Given the description of an element on the screen output the (x, y) to click on. 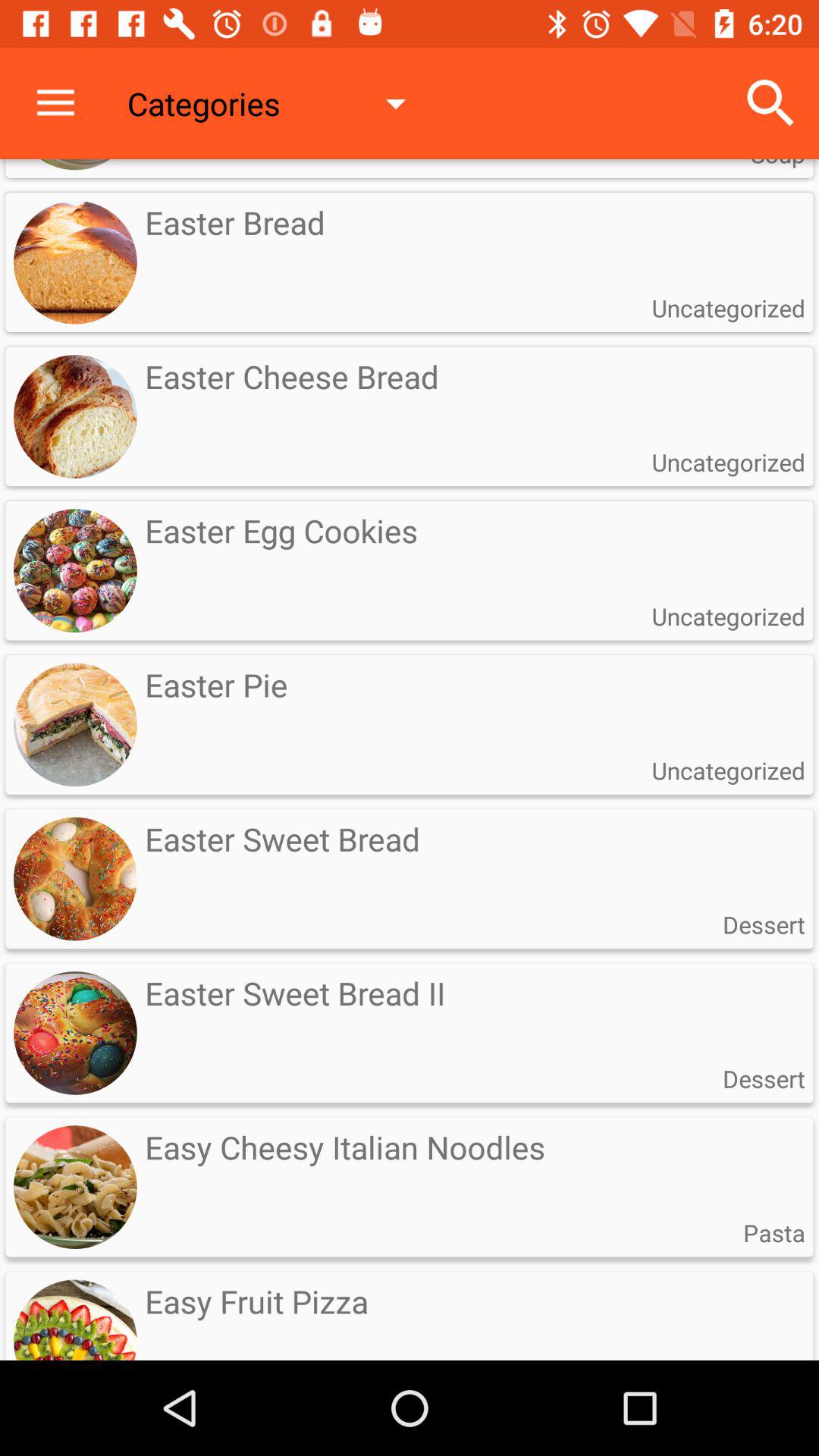
turn on the item to the left of categories icon (55, 103)
